Given the description of an element on the screen output the (x, y) to click on. 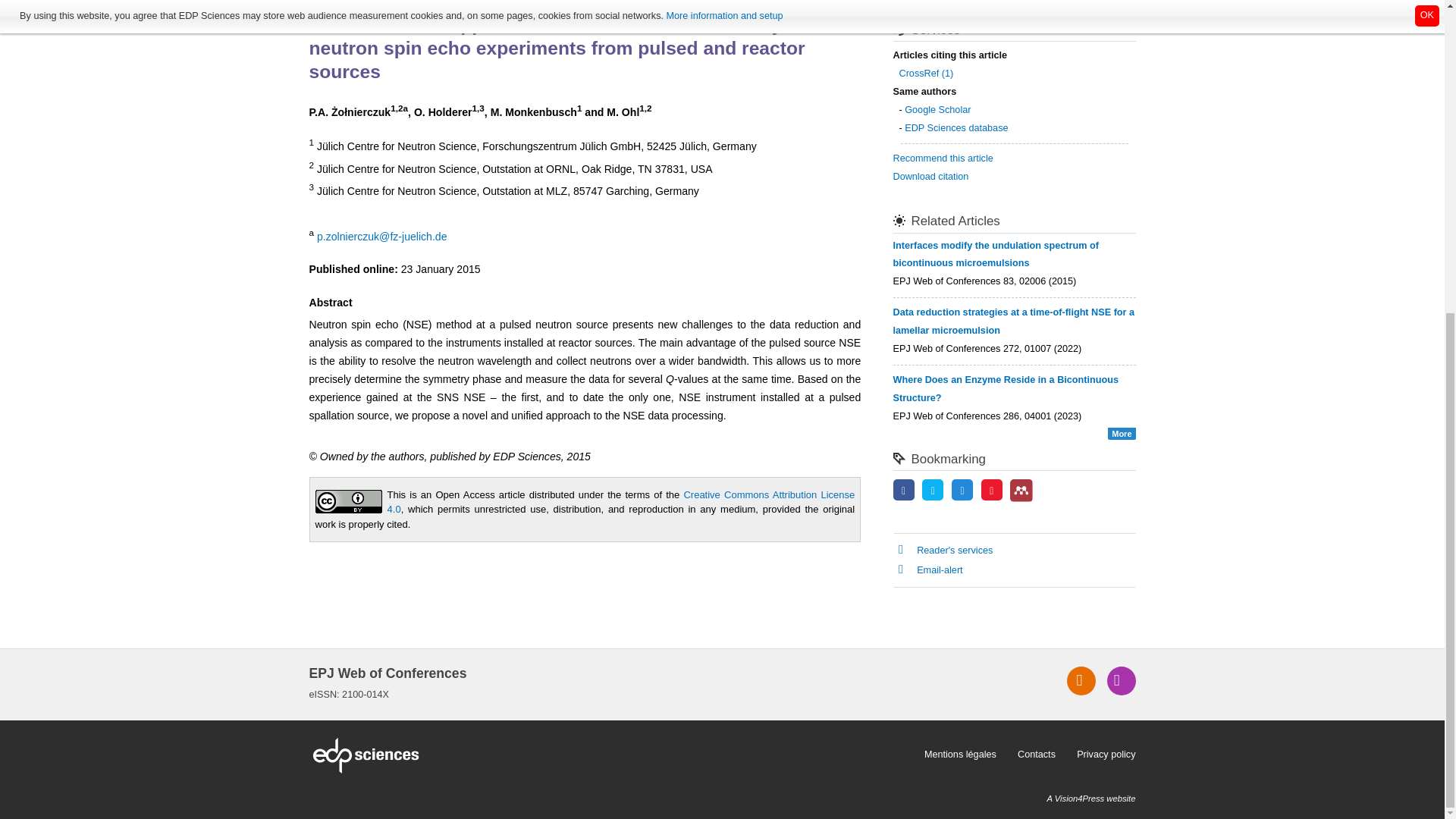
Mendeley (1021, 490)
